Given the description of an element on the screen output the (x, y) to click on. 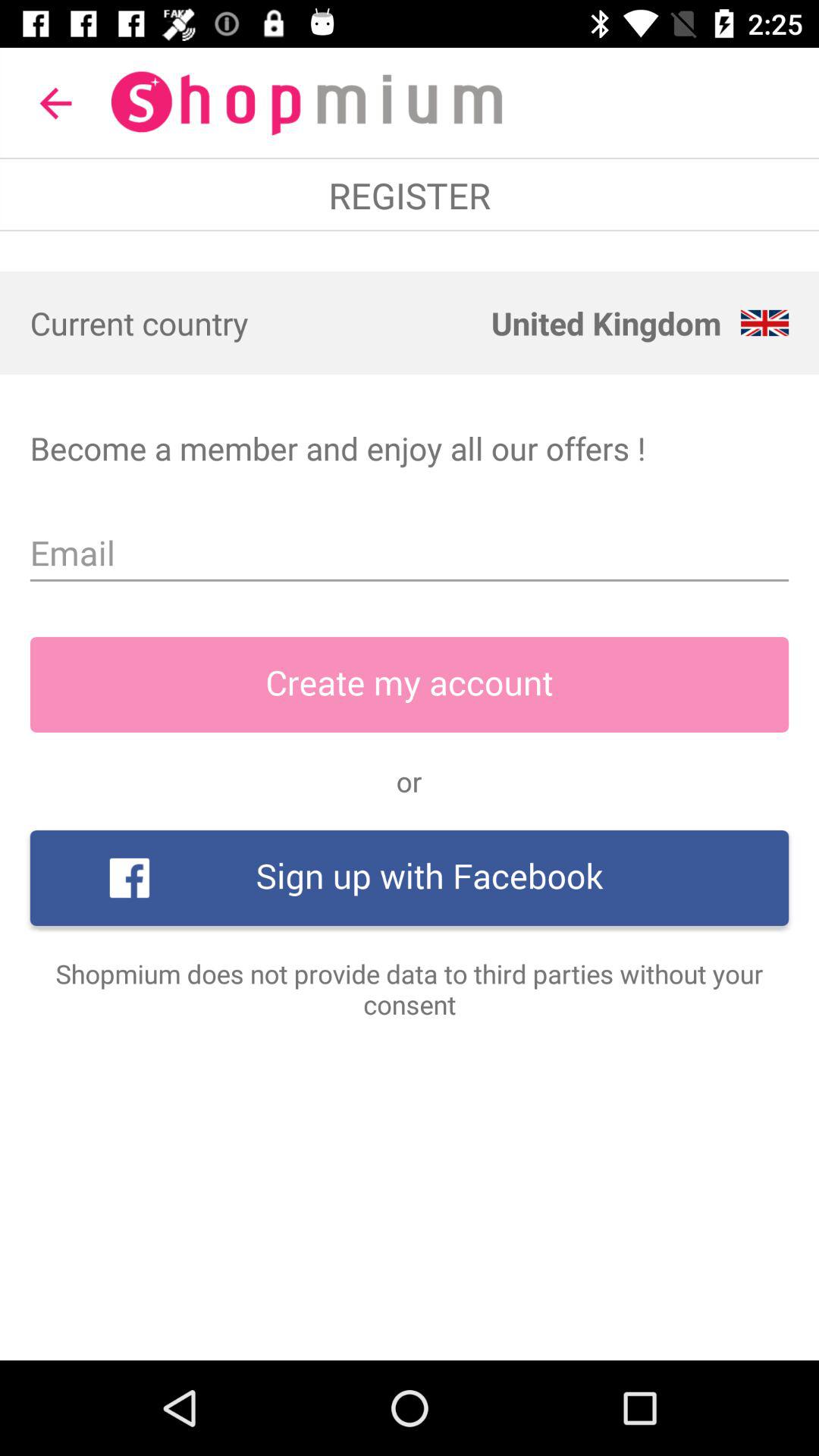
go to email text area (409, 553)
